Given the description of an element on the screen output the (x, y) to click on. 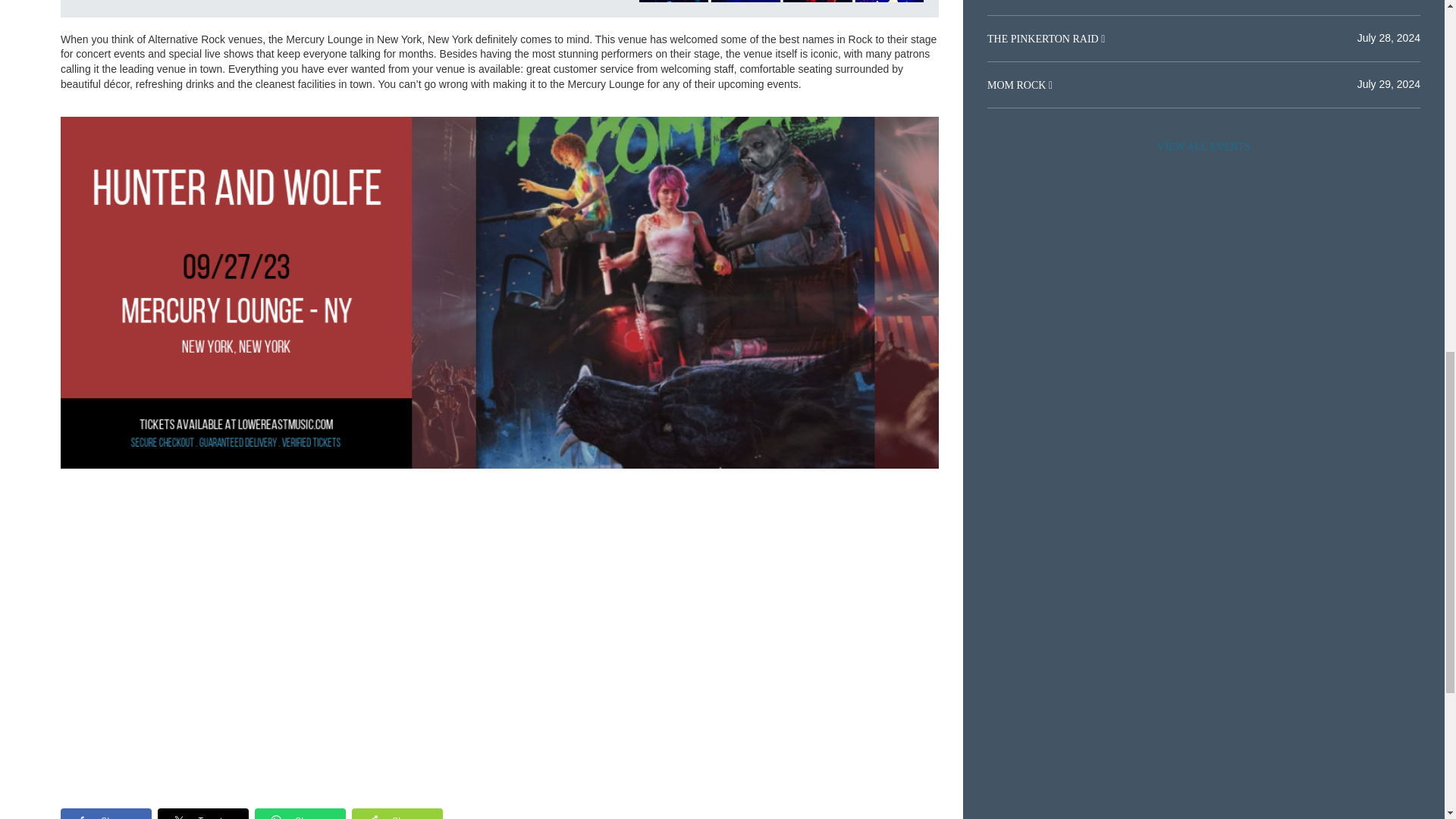
VIEW ALL EVENTS (1203, 146)
THE PINKERTON RAID (1043, 39)
